Given the description of an element on the screen output the (x, y) to click on. 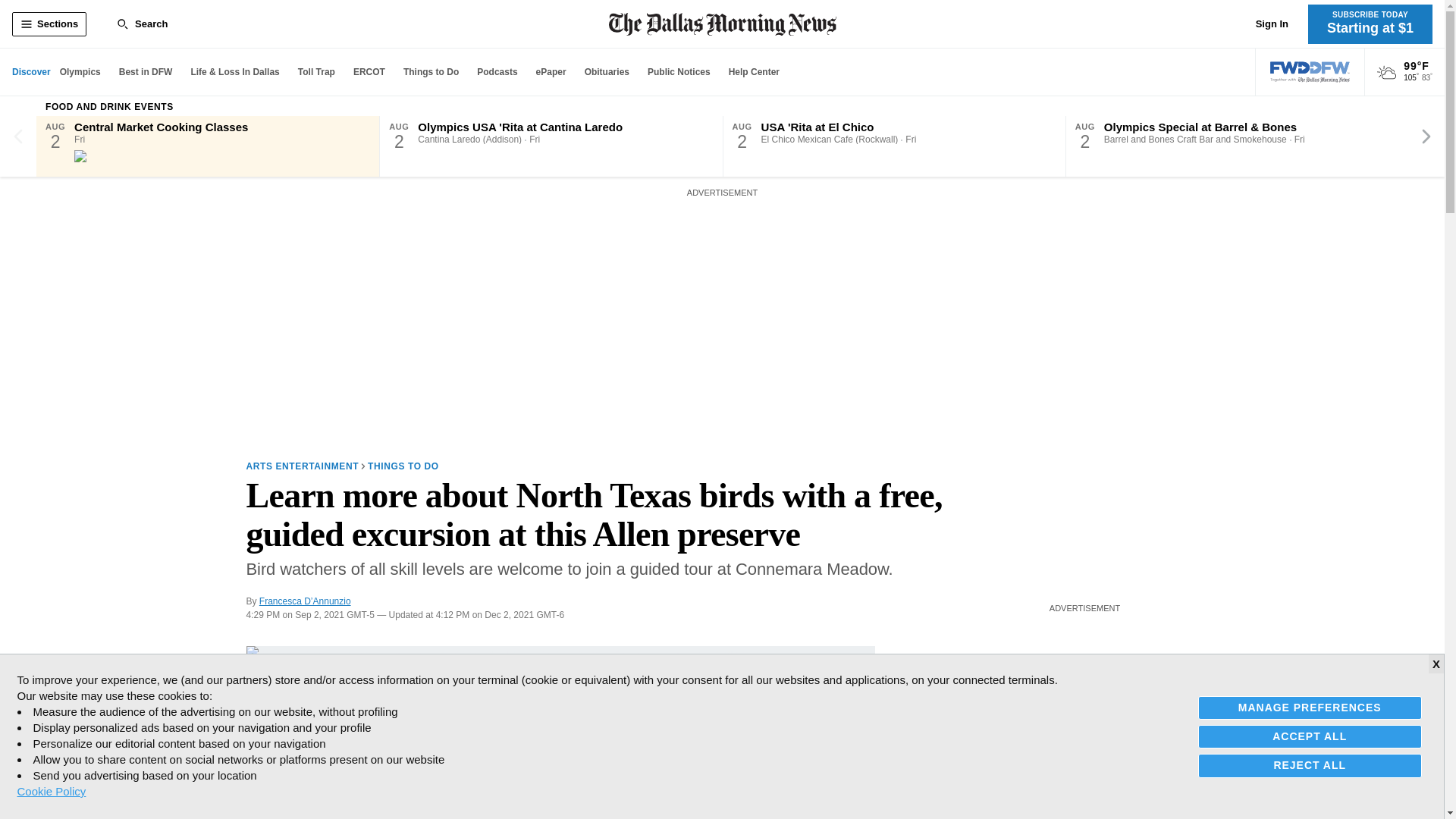
MANAGE PREFERENCES (1310, 707)
ACCEPT ALL (1310, 736)
REJECT ALL (1310, 765)
Broken clouds (1386, 72)
Cookie Policy (50, 790)
FWD DFW, Together with The Dallas Morning News (1310, 72)
